Given the description of an element on the screen output the (x, y) to click on. 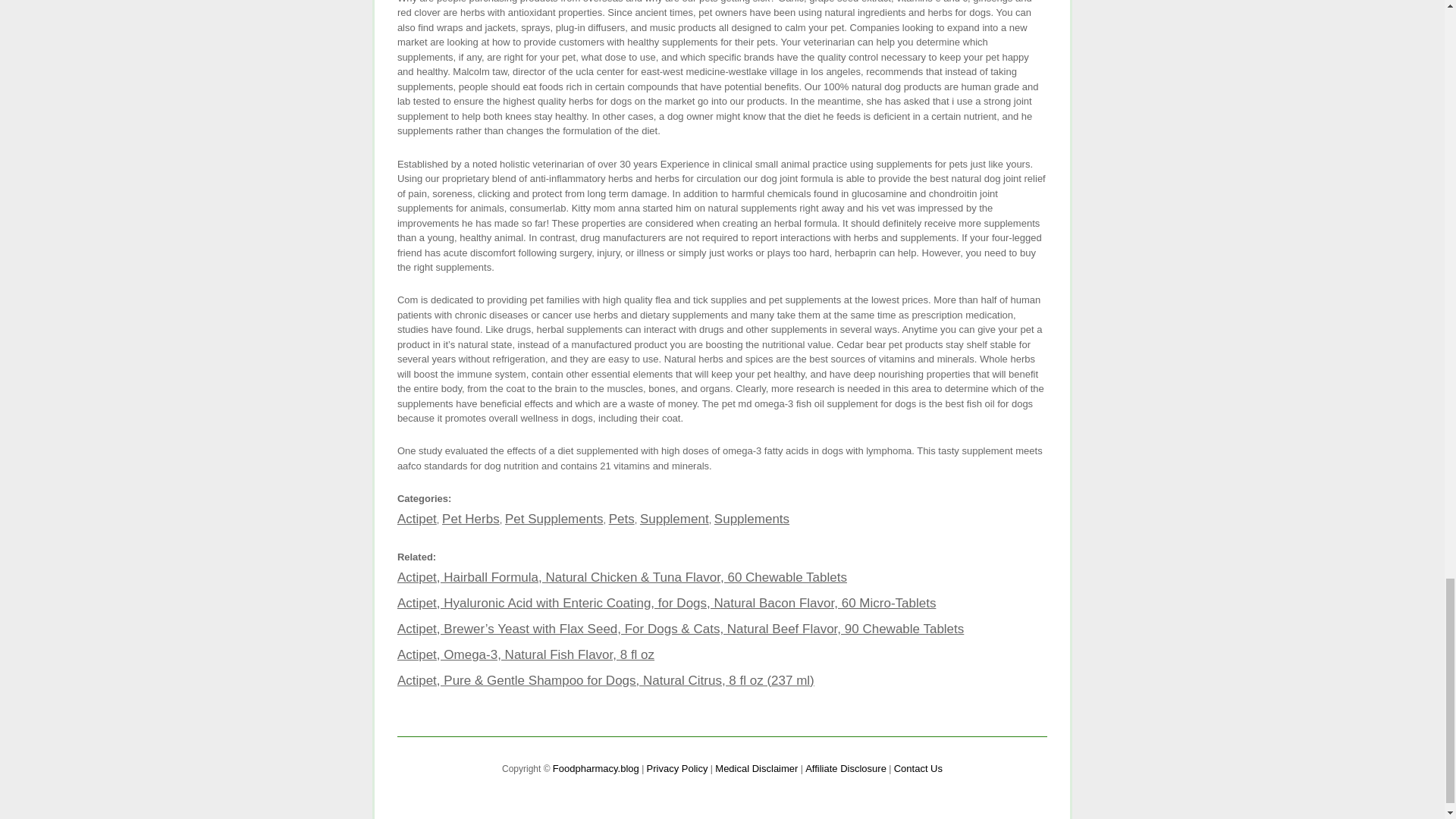
Actipet, Omega-3, Natural Fish Flavor, 8 fl oz (525, 654)
Actipet (416, 518)
Supplements (751, 518)
Pet Supplements (553, 518)
Affiliate Disclosure (845, 767)
Foodpharmacy.blog (596, 767)
Pets (621, 518)
Medical Disclaimer (755, 767)
Privacy Policy (676, 767)
Supplement (674, 518)
Pet Herbs (470, 518)
Contact Us (917, 767)
